Given the description of an element on the screen output the (x, y) to click on. 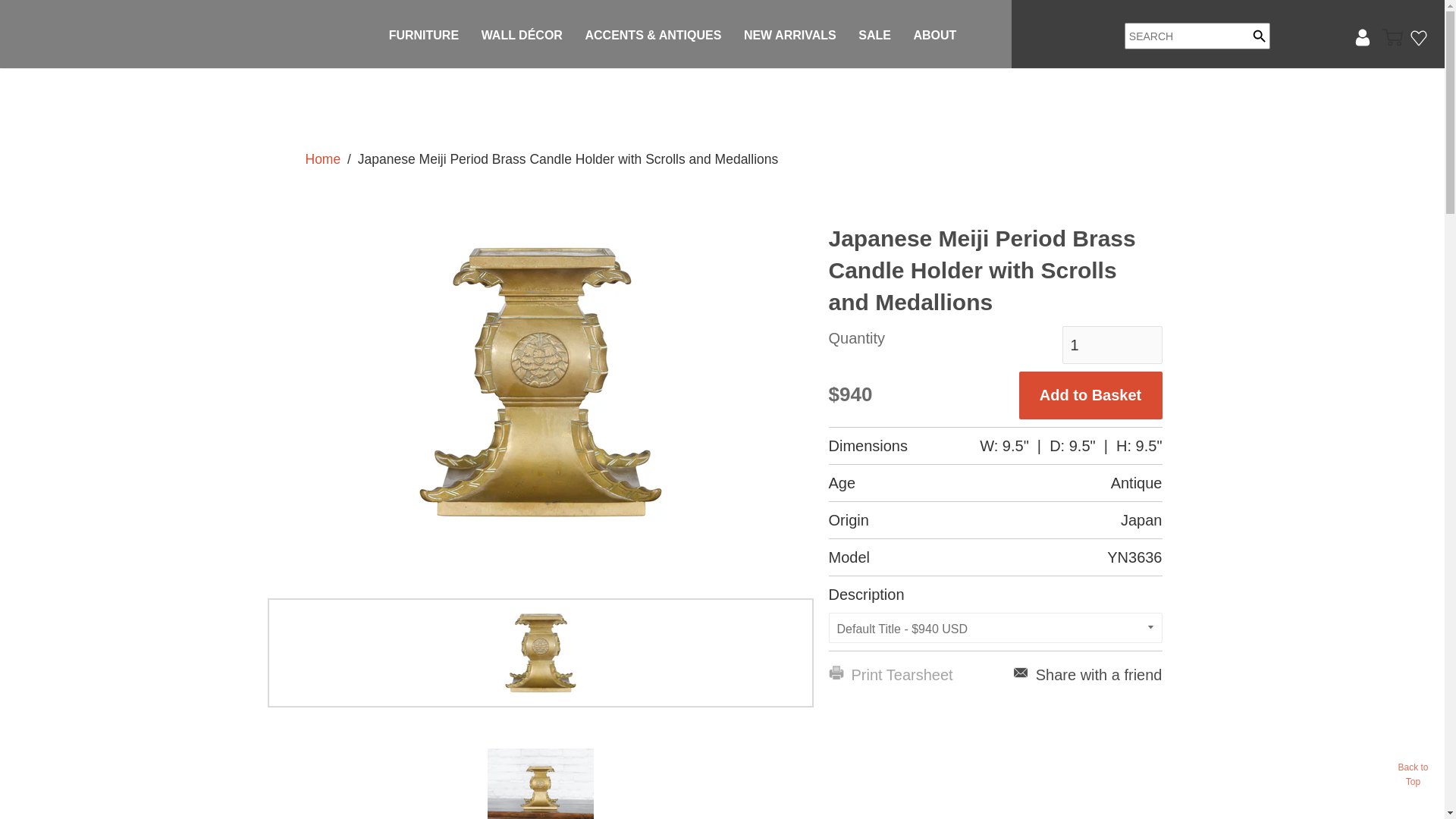
1 (1111, 344)
